Given the description of an element on the screen output the (x, y) to click on. 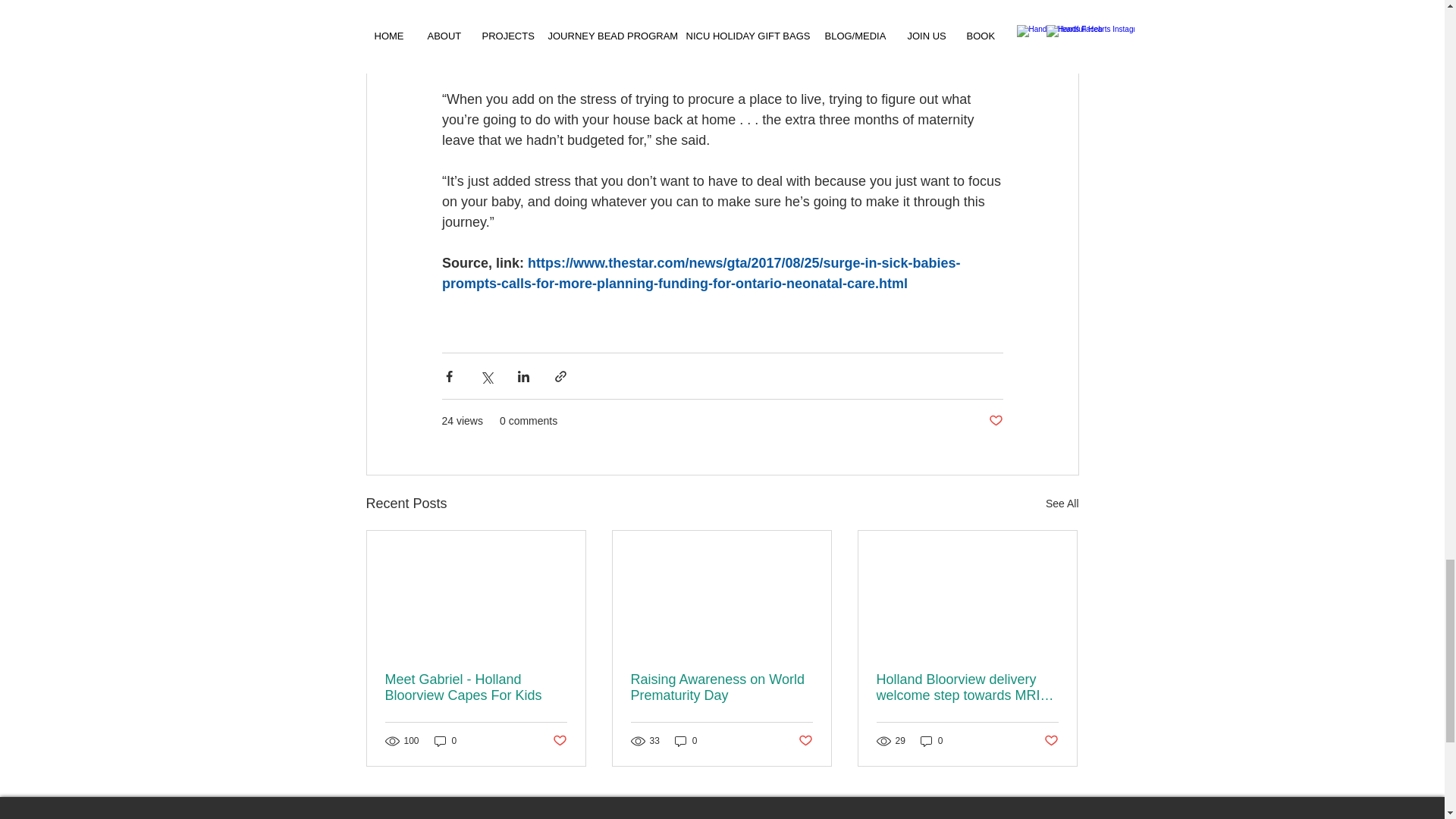
Holland Bloorview delivery welcome step towards MRI suite (967, 687)
0 (445, 740)
Meet Gabriel - Holland Bloorview Capes For Kids (476, 687)
See All (1061, 504)
Post not marked as liked (558, 741)
Post not marked as liked (804, 741)
Post not marked as liked (1050, 741)
0 (931, 740)
Raising Awareness on World Prematurity Day (721, 687)
Post not marked as liked (995, 421)
